Given the description of an element on the screen output the (x, y) to click on. 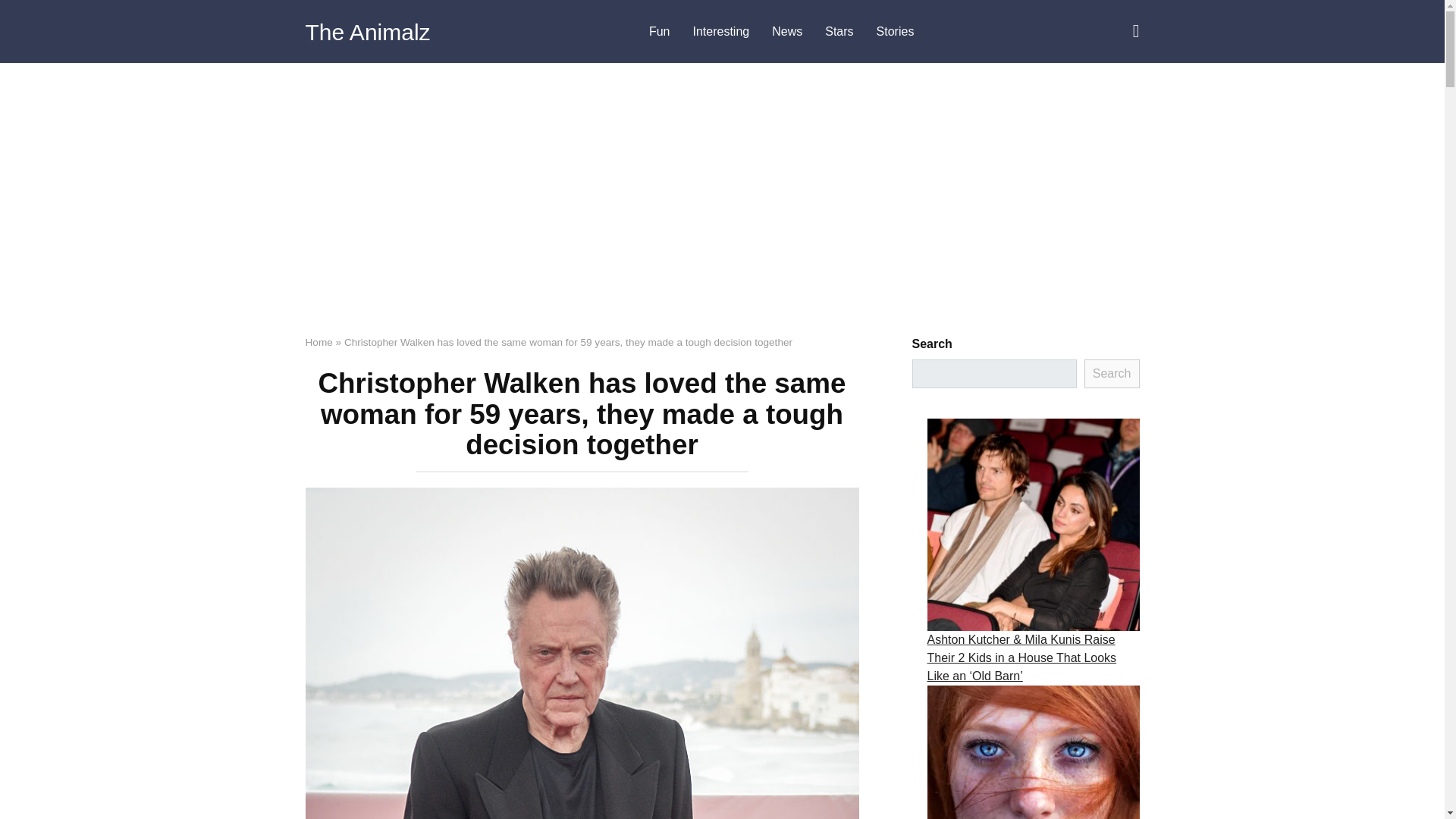
The Animalz (366, 32)
Stories (895, 31)
News (786, 31)
Home (317, 342)
Search (1112, 373)
Fun (659, 31)
Interesting (720, 31)
Stars (838, 31)
